Given the description of an element on the screen output the (x, y) to click on. 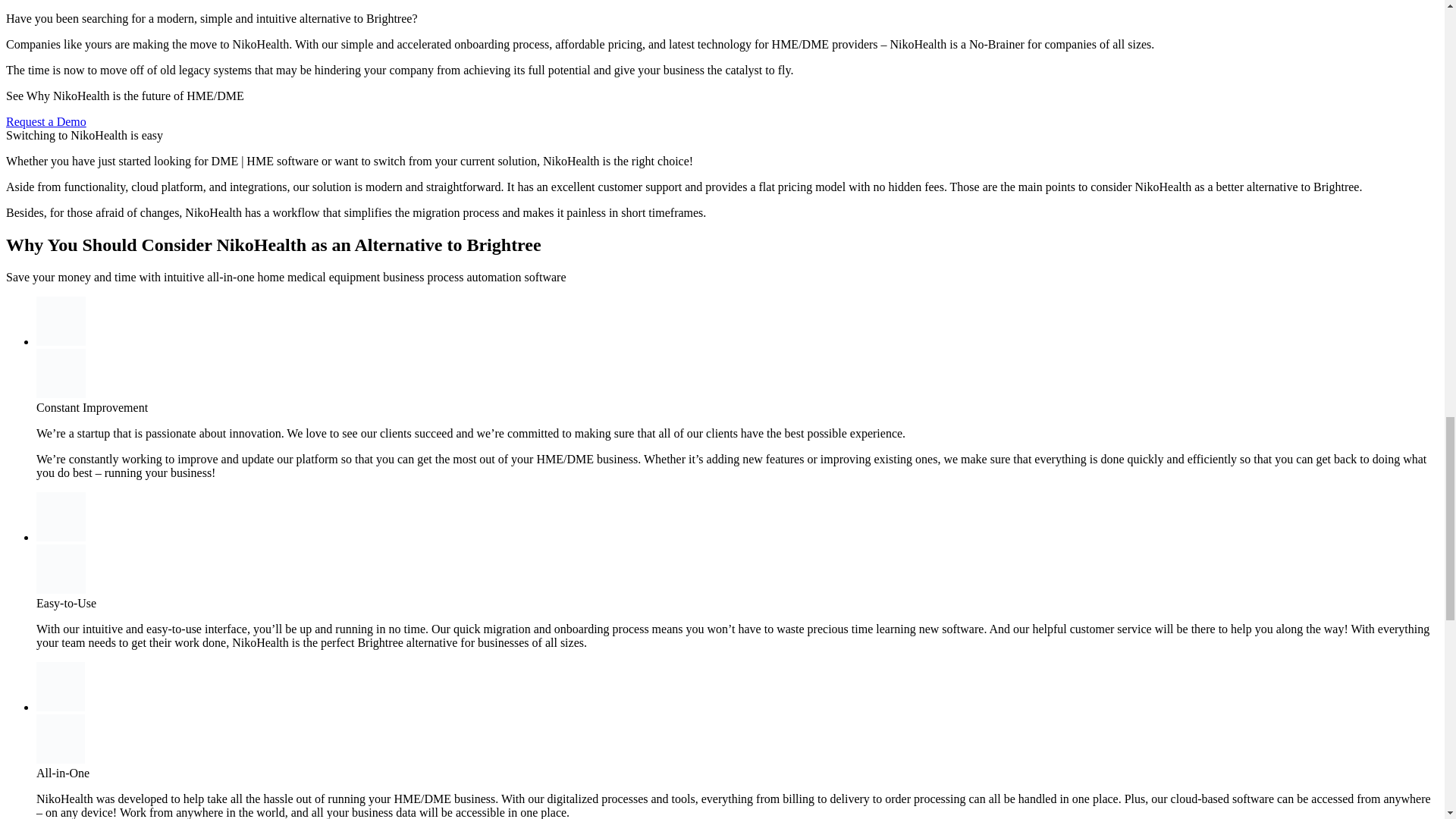
Request a Demo (45, 121)
